Given the description of an element on the screen output the (x, y) to click on. 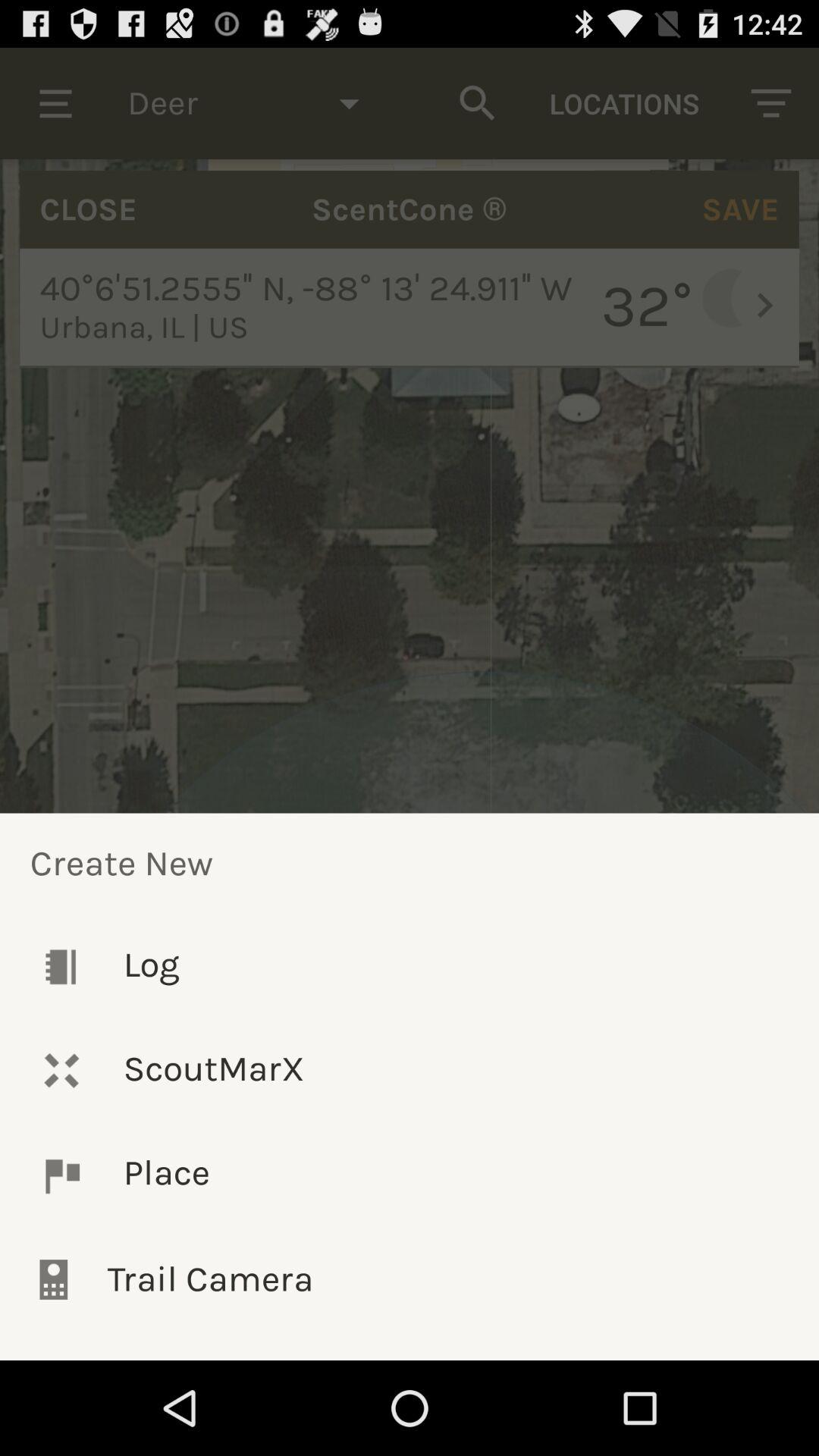
flip to the log icon (409, 966)
